Given the description of an element on the screen output the (x, y) to click on. 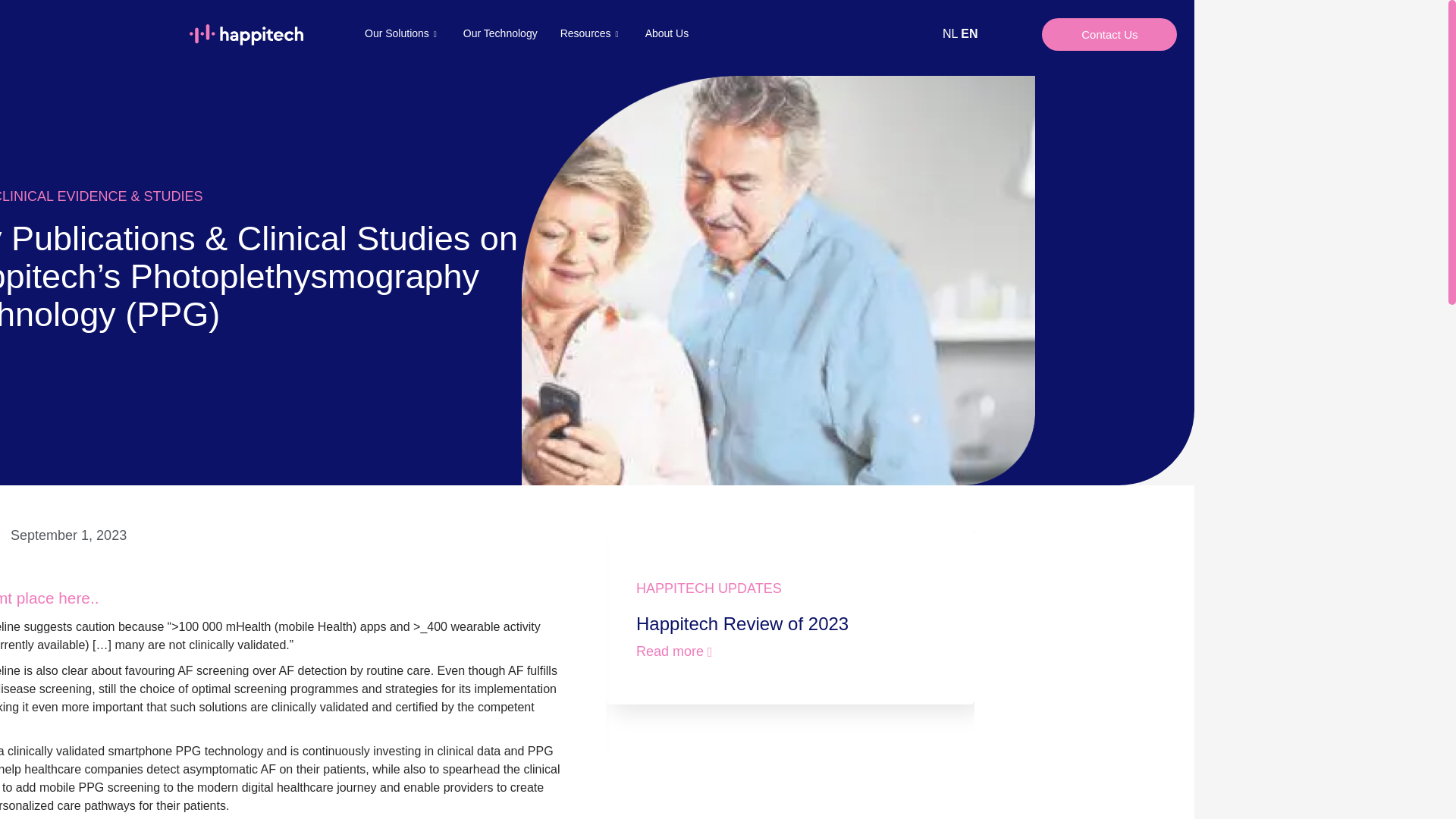
About Us (666, 33)
HAPPITECH UPDATES (708, 588)
Our Solutions (402, 33)
Contact Us (1109, 34)
September 1, 2023 (120, 535)
Our Technology (499, 33)
Share (25, 535)
NL (950, 33)
EN (968, 33)
Happitech Review of 2023 (742, 623)
English (968, 33)
Resources (590, 33)
Dutch (950, 33)
Read more (674, 648)
